Given the description of an element on the screen output the (x, y) to click on. 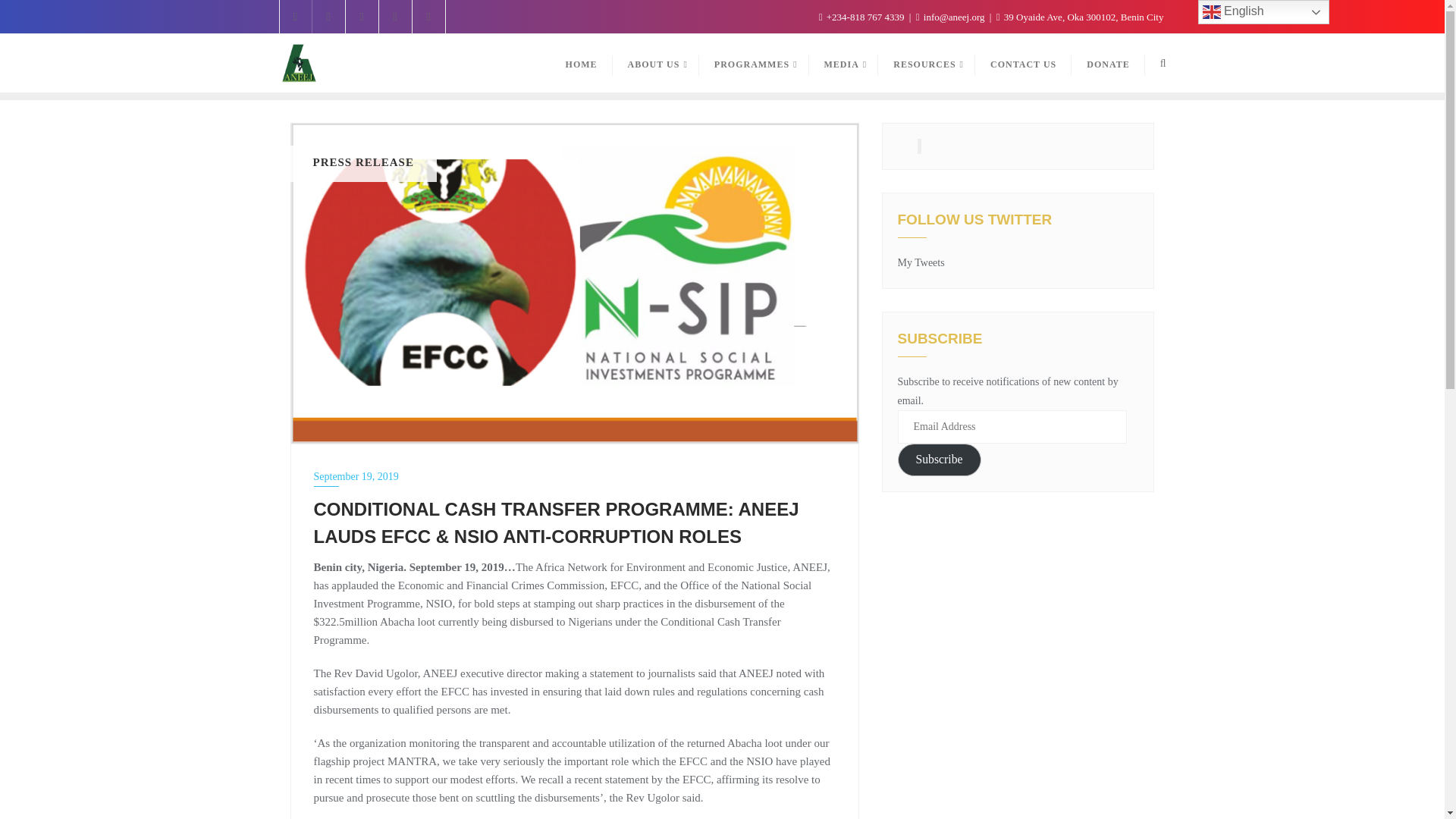
CONTACT US (1023, 63)
MEDIA (844, 63)
HOME (581, 63)
ABOUT US (655, 63)
PROGRAMMES (753, 63)
DONATE (1107, 63)
RESOURCES (926, 63)
